Given the description of an element on the screen output the (x, y) to click on. 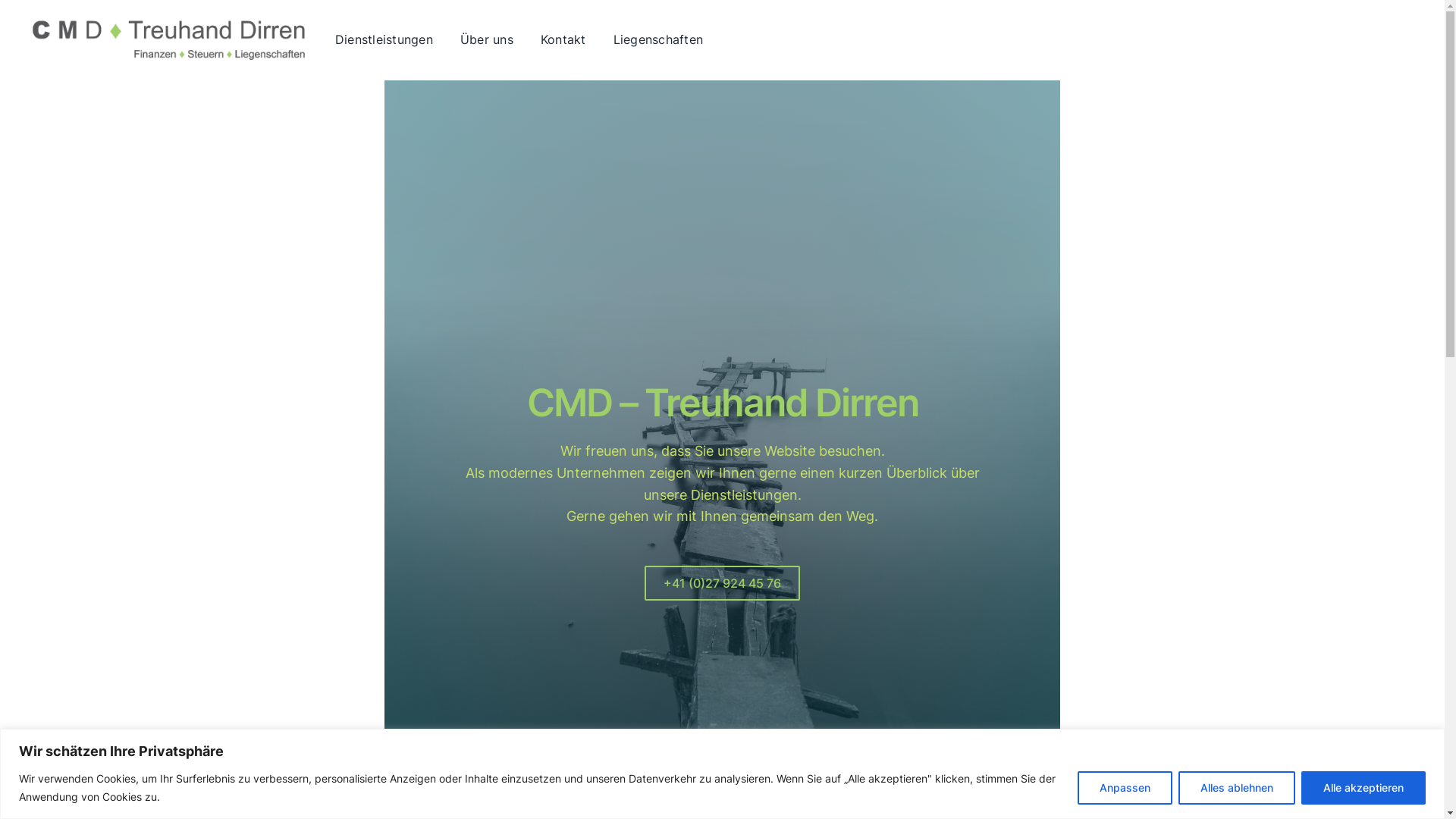
Dienstleistungen Element type: text (384, 40)
Liegenschaften Element type: text (657, 40)
Alle akzeptieren Element type: text (1363, 786)
Anpassen Element type: text (1124, 786)
Alles ablehnen Element type: text (1236, 786)
+41 (0)27 924 45 76 Element type: text (722, 582)
Kontakt Element type: text (563, 40)
